Given the description of an element on the screen output the (x, y) to click on. 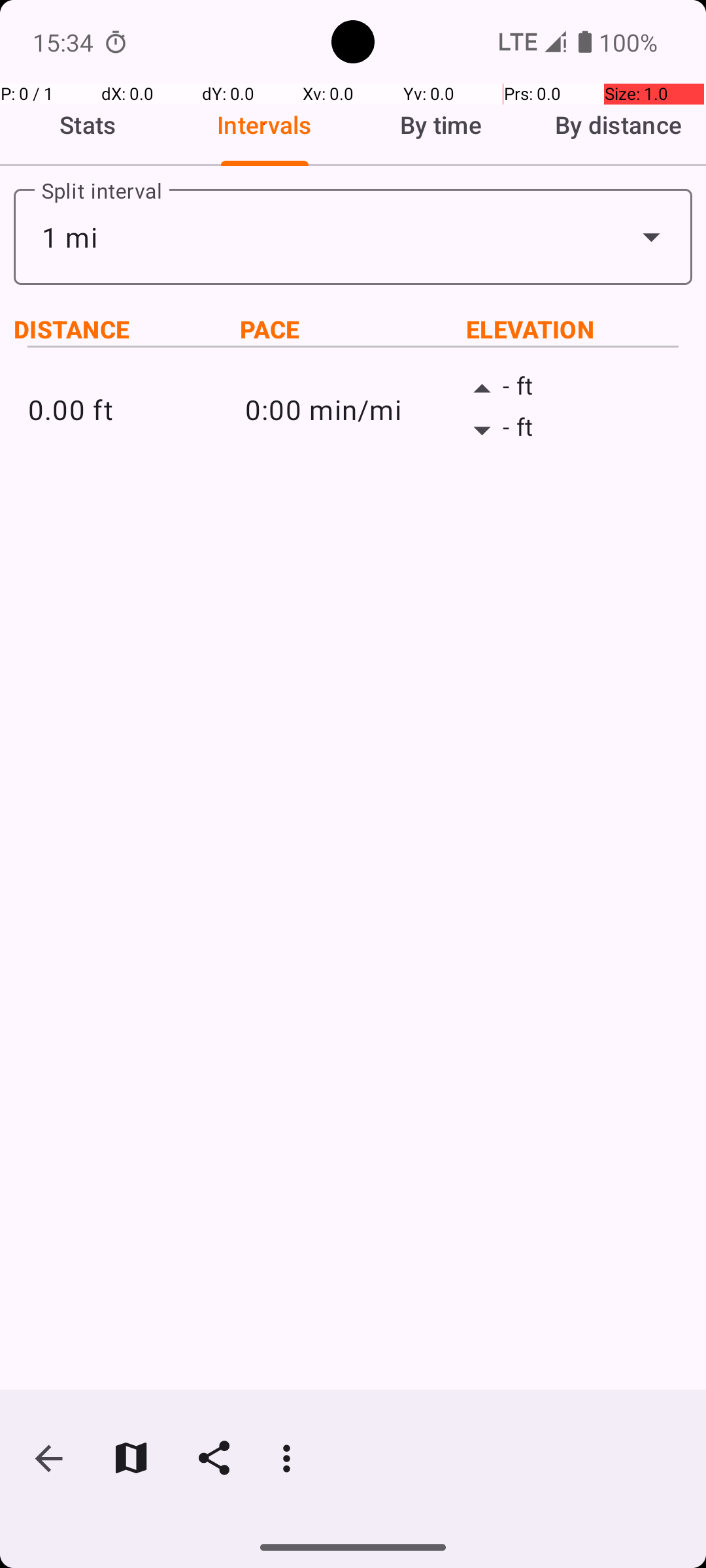
PACE Element type: android.widget.TextView (352, 328)
0:00 min/mi Element type: android.widget.TextView (352, 408)
